Given the description of an element on the screen output the (x, y) to click on. 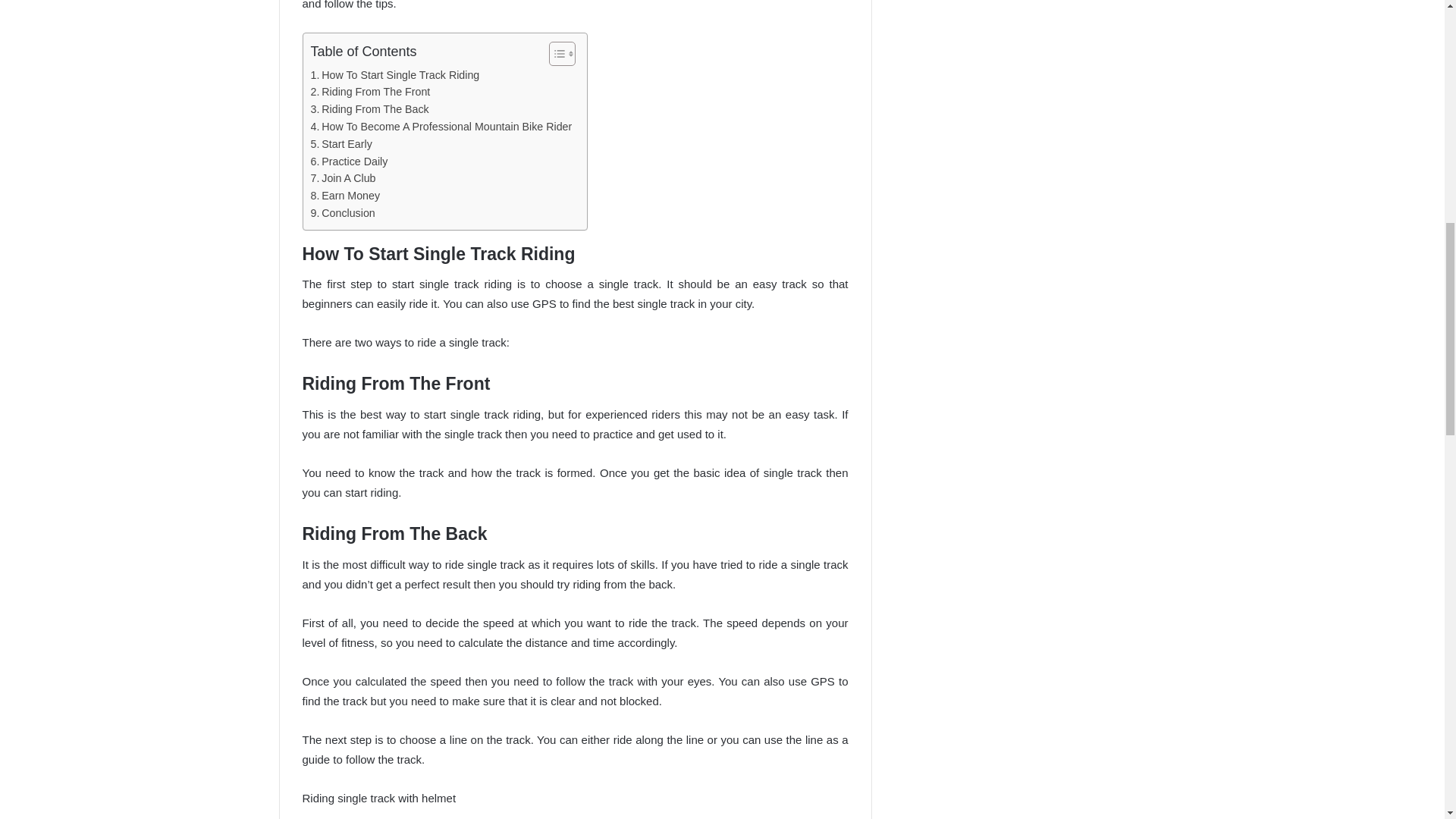
Practice Daily (349, 161)
How To Become A Professional Mountain Bike Rider (441, 126)
Riding From The Front (370, 91)
How To Start Single Track Riding (395, 75)
How To Become A Professional Mountain Bike Rider (441, 126)
Join A Club (343, 178)
Earn Money (345, 195)
Riding From The Back (370, 108)
How To Start Single Track Riding (395, 75)
Start Early (341, 144)
